Given the description of an element on the screen output the (x, y) to click on. 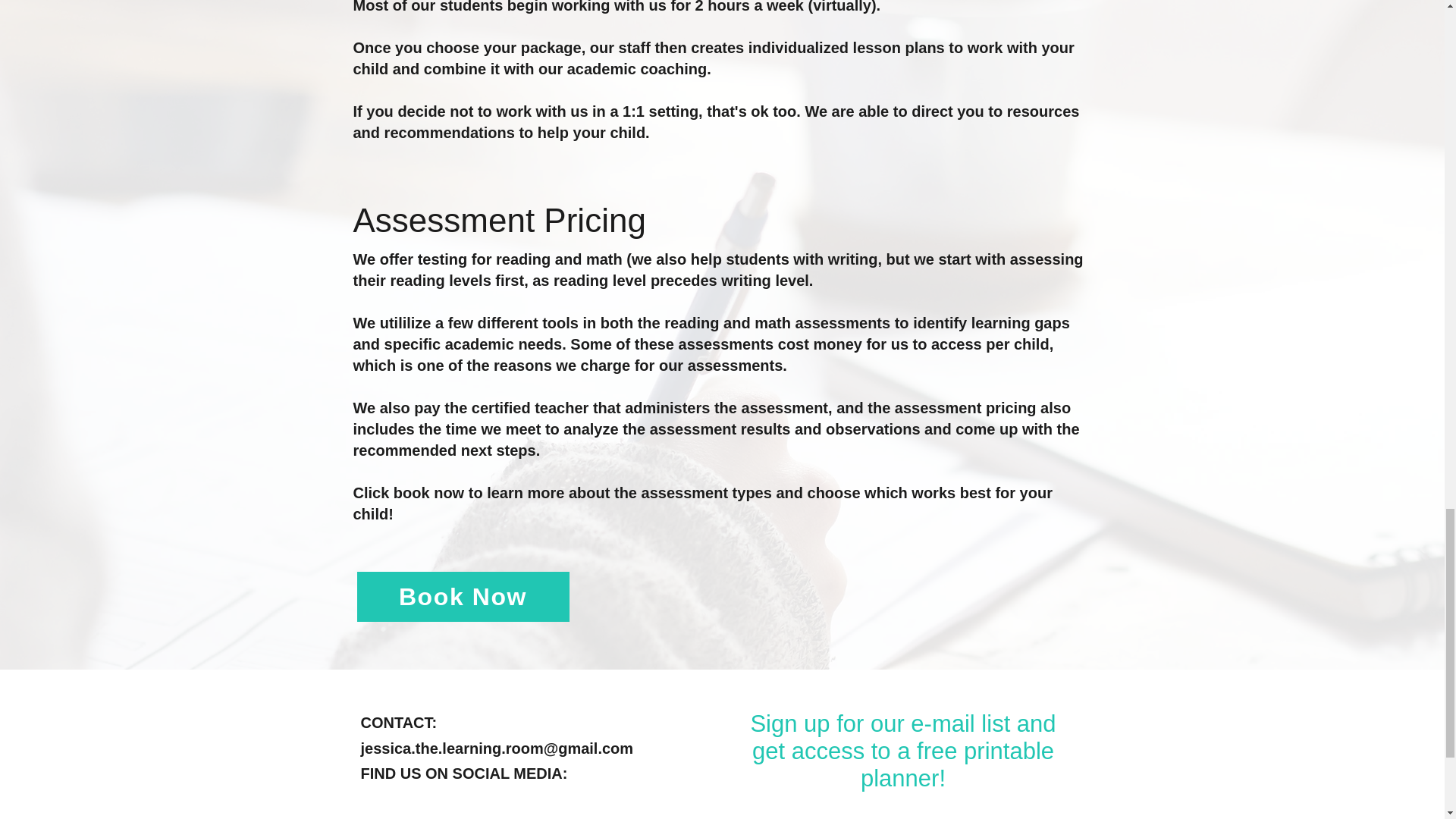
Book Now (462, 596)
